Given the description of an element on the screen output the (x, y) to click on. 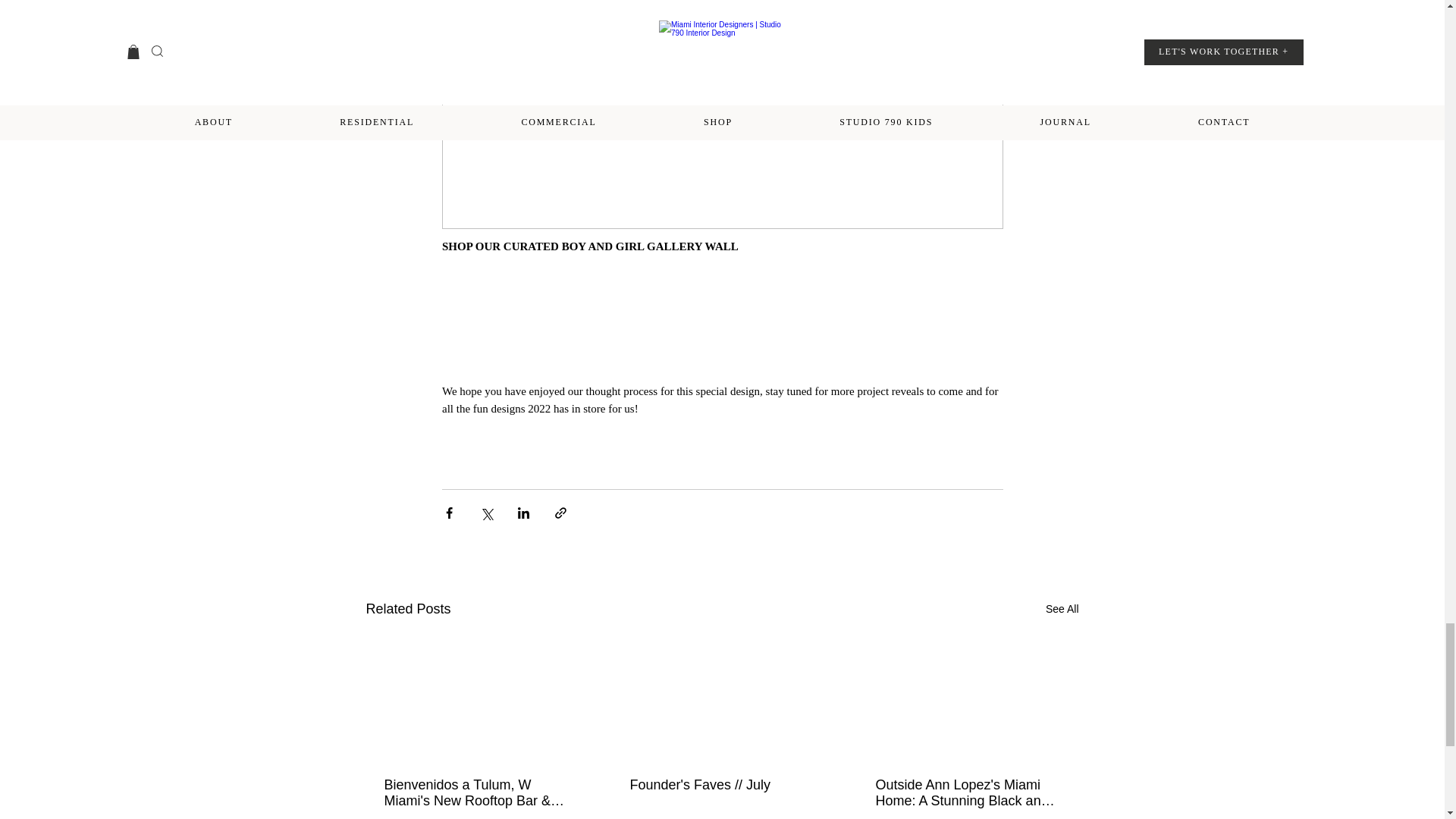
See All (1061, 608)
